Given the description of an element on the screen output the (x, y) to click on. 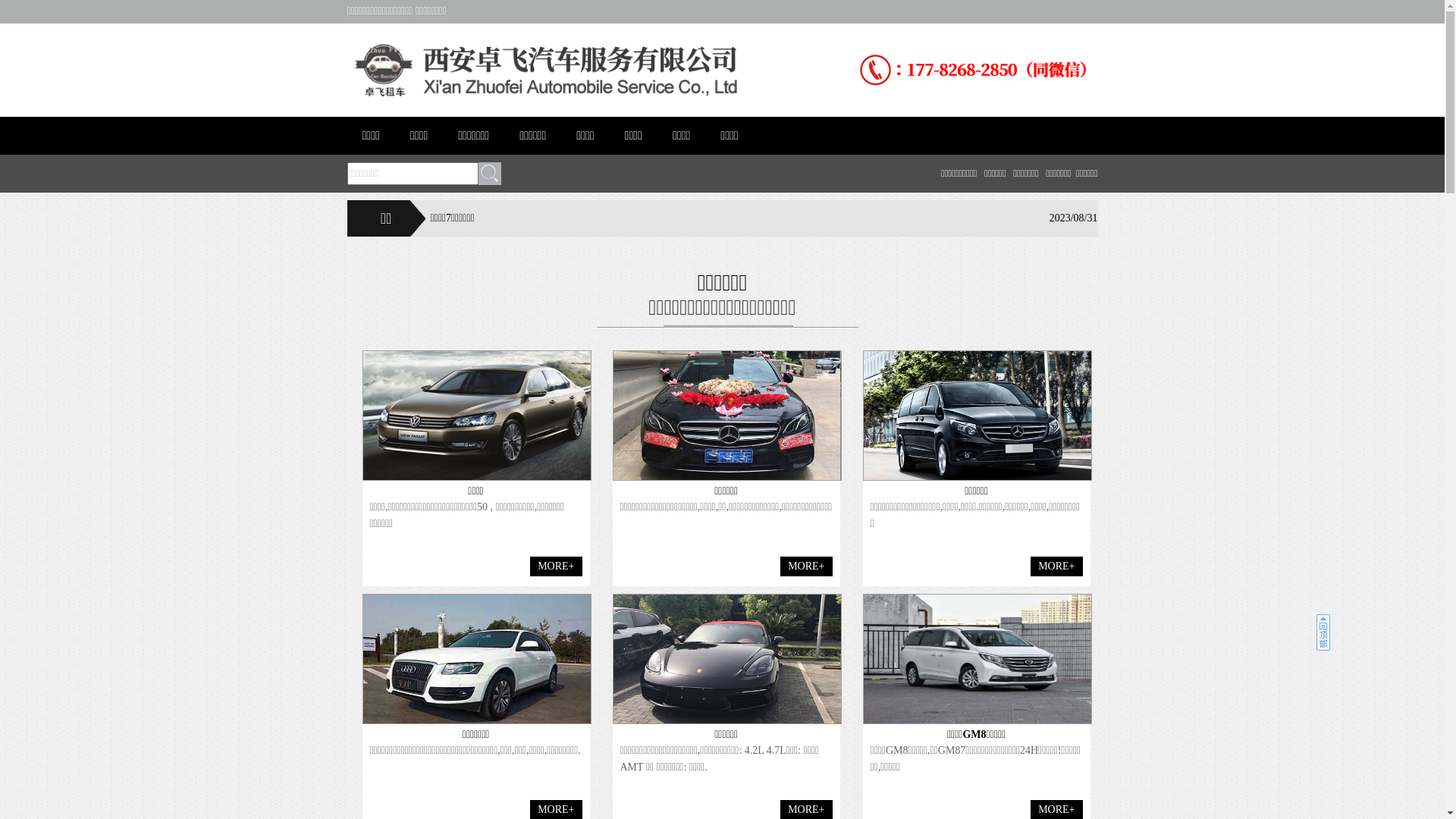
MORE+ Element type: text (805, 566)
MORE+ Element type: text (1056, 566)
MORE+ Element type: text (555, 566)
